Given the description of an element on the screen output the (x, y) to click on. 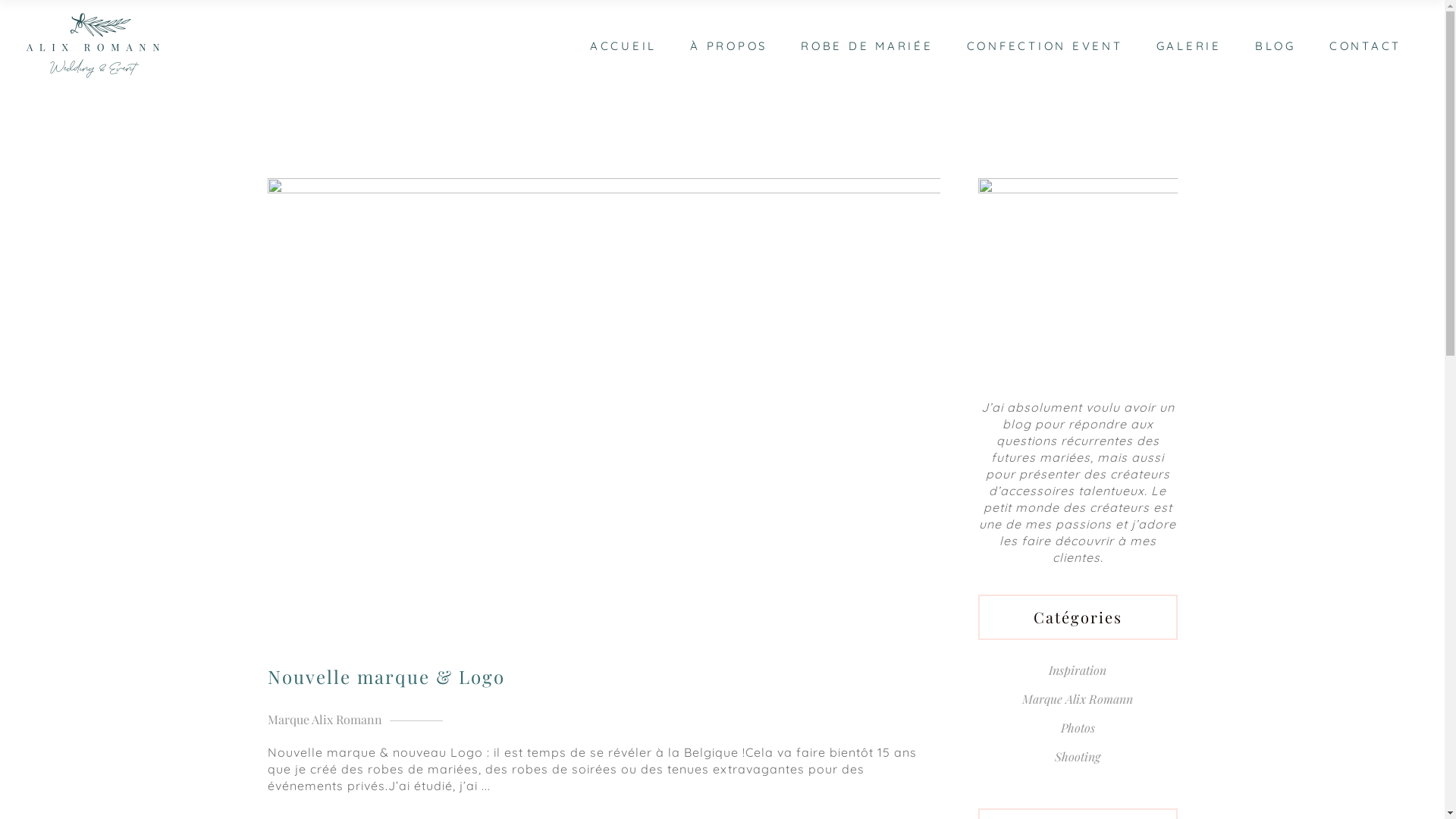
Inspiration Element type: text (1077, 669)
GALERIE Element type: text (1188, 45)
Photos Element type: text (1077, 726)
BLOG Element type: text (1275, 45)
Nouvelle marque & Logo Element type: text (385, 676)
Nouvelle marque & Logo Element type: hover (603, 402)
ACCUEIL Element type: text (623, 45)
Marque Alix Romann Element type: text (323, 719)
CONTACT Element type: text (1365, 45)
CONFECTION EVENT Element type: text (1044, 45)
Shooting Element type: text (1077, 755)
Marque Alix Romann Element type: text (1077, 698)
